Given the description of an element on the screen output the (x, y) to click on. 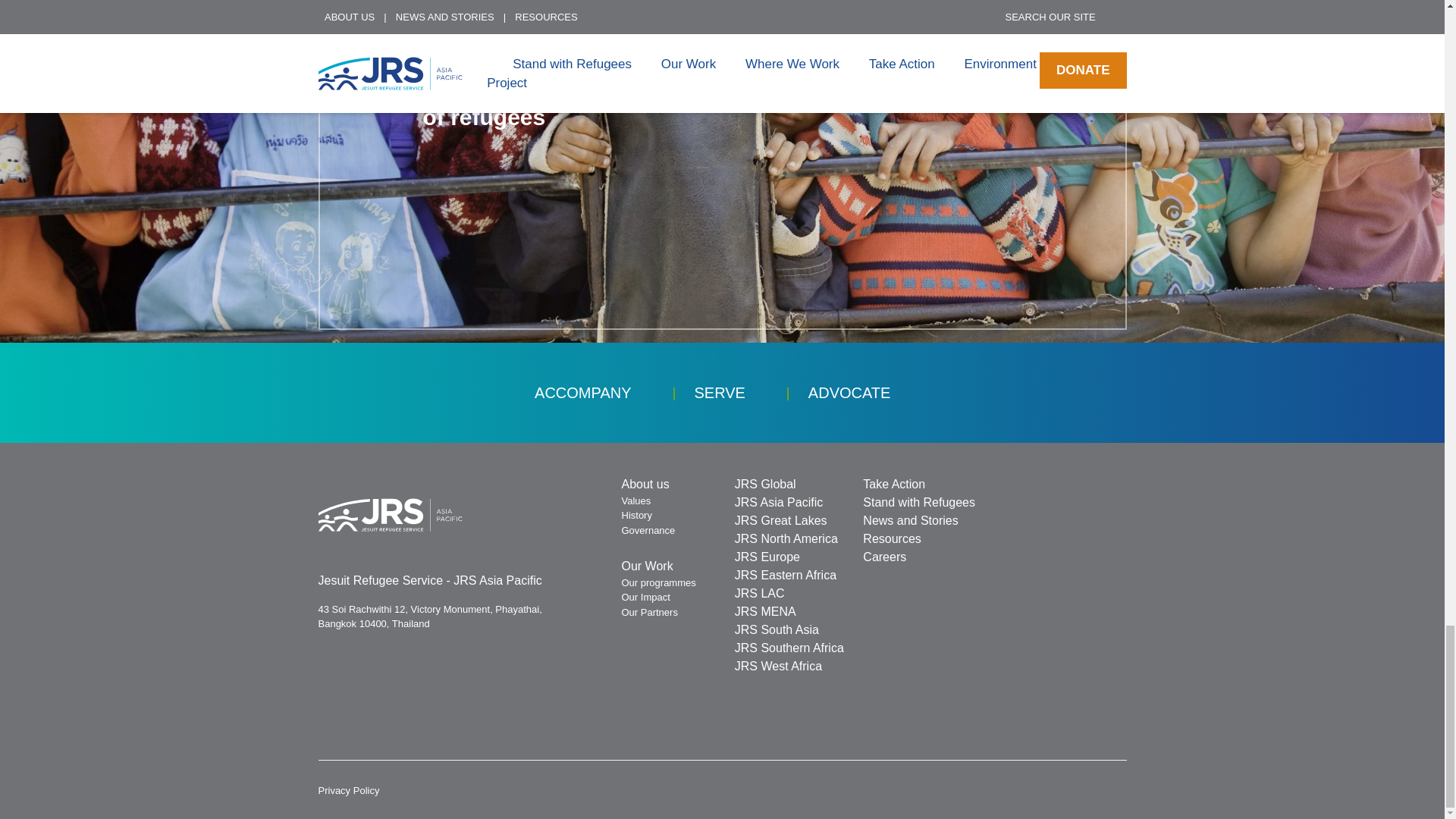
JRS North America (786, 538)
Our programmes (658, 582)
ADVOCATE (849, 392)
Our Impact (645, 596)
Values (635, 500)
ACCOMPANY (582, 392)
Our Work (646, 565)
About us (645, 483)
JRS Great Lakes (781, 520)
JRS Asia Pacific (778, 502)
